Given the description of an element on the screen output the (x, y) to click on. 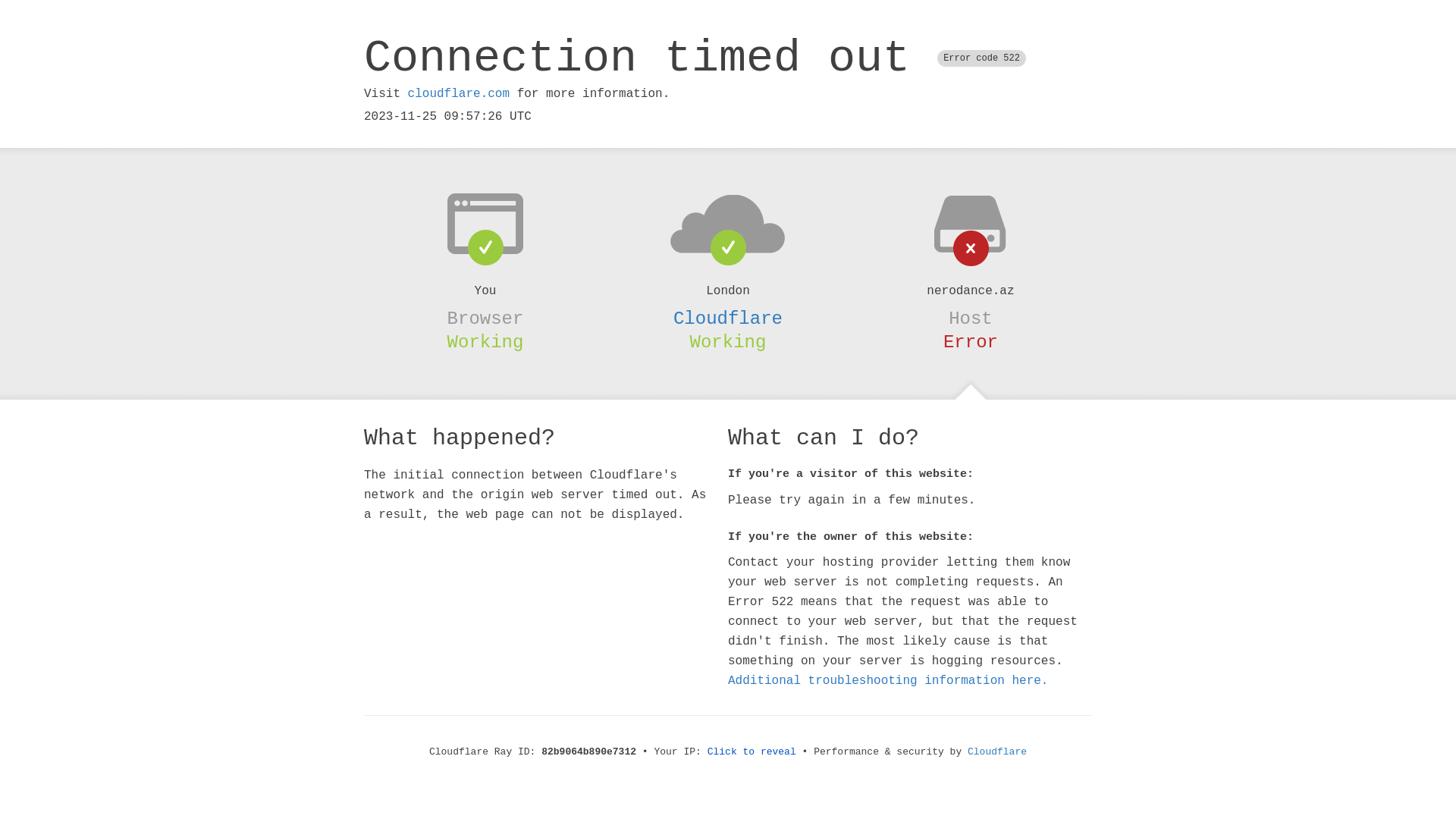
Cloudflare Element type: text (727, 318)
Cloudflare Element type: text (996, 751)
Click to reveal Element type: text (751, 751)
Additional troubleshooting information here. Element type: text (888, 680)
cloudflare.com Element type: text (458, 93)
